Given the description of an element on the screen output the (x, y) to click on. 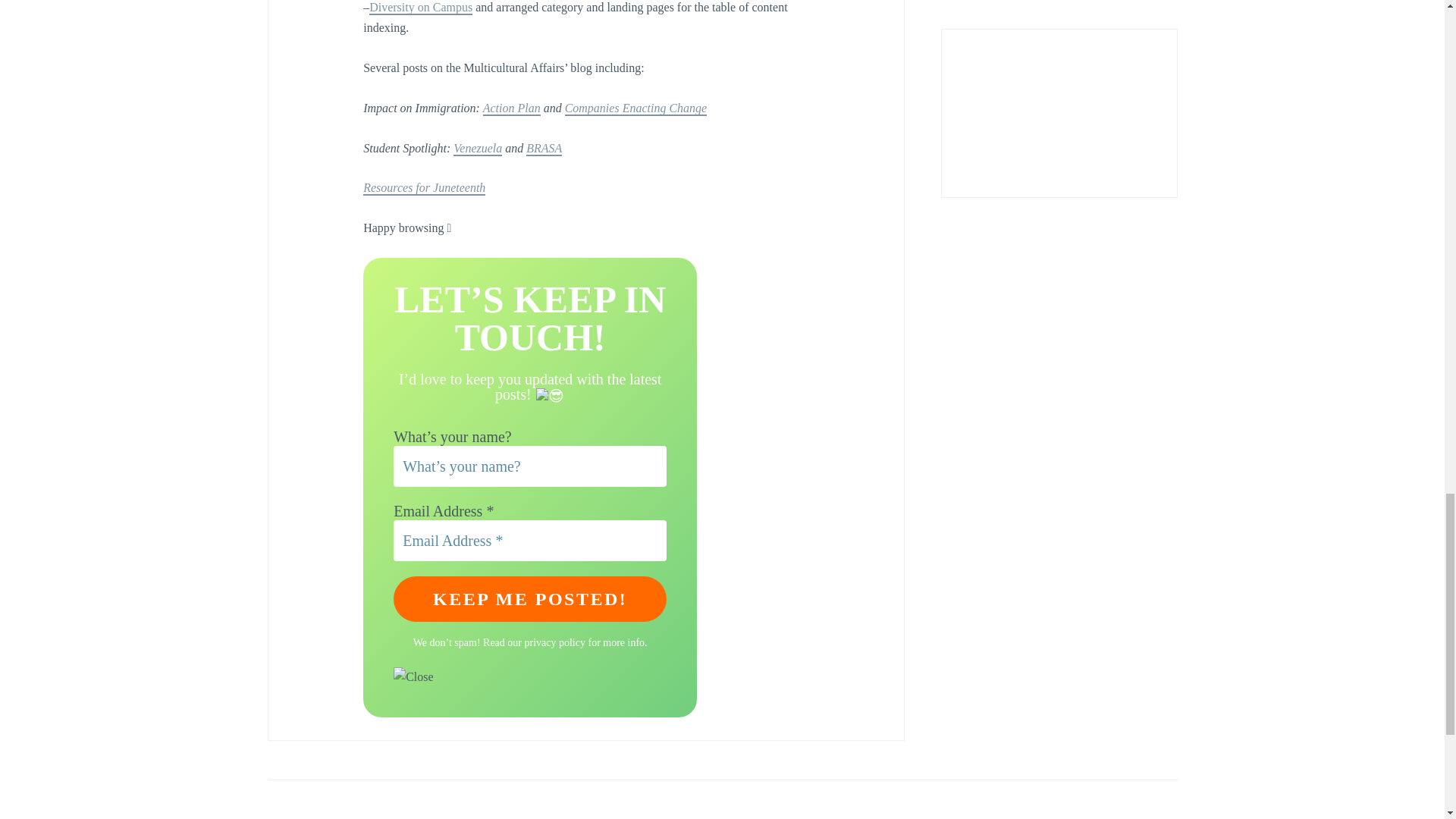
Resources for Juneteenth (423, 187)
Diversity on Campus (420, 7)
Action Plan (511, 108)
Keep me posted! (529, 598)
Email Address (529, 540)
BRASA (543, 147)
Keep me posted! (529, 598)
Venezuela (477, 147)
Companies Enacting Change (635, 108)
